Given the description of an element on the screen output the (x, y) to click on. 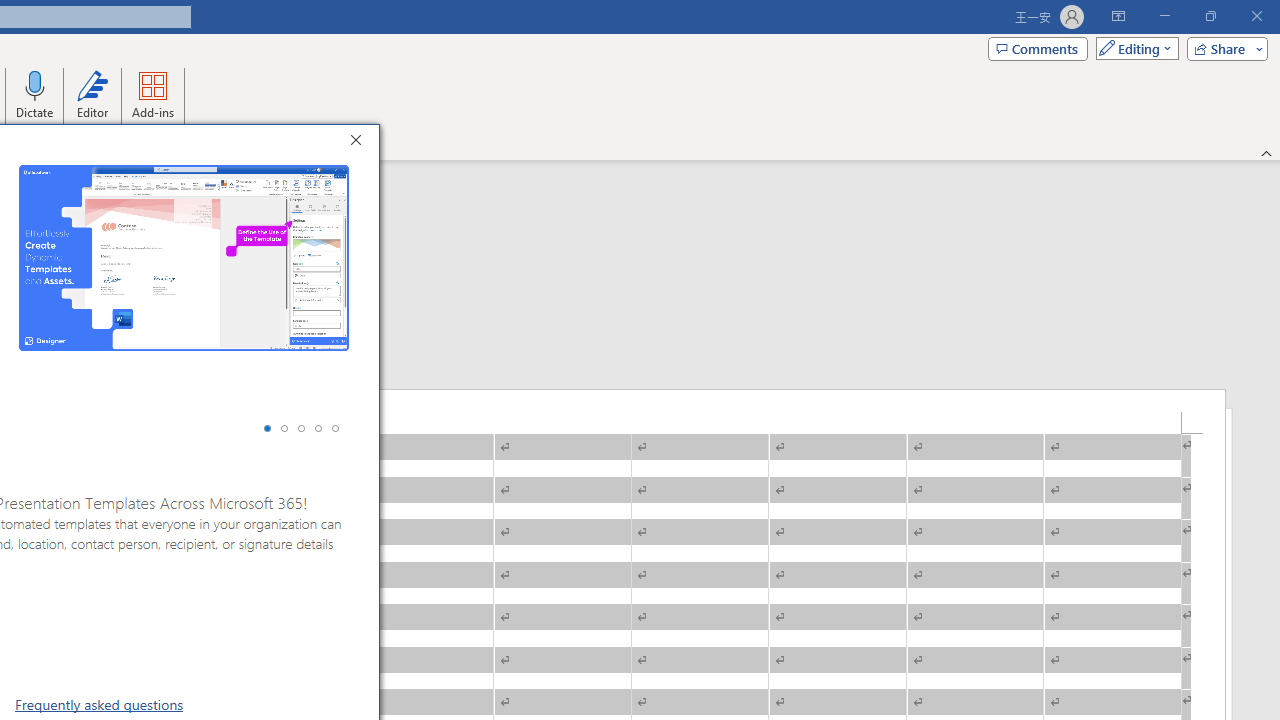
Go to screenshot 3 (301, 428)
Go to screenshot 5 (335, 428)
Go to screenshot 4 (318, 428)
Screenshot #1 of 5 officeatwork | Designer for Office add-in (184, 257)
Go to screenshot 2 (284, 428)
